Given the description of an element on the screen output the (x, y) to click on. 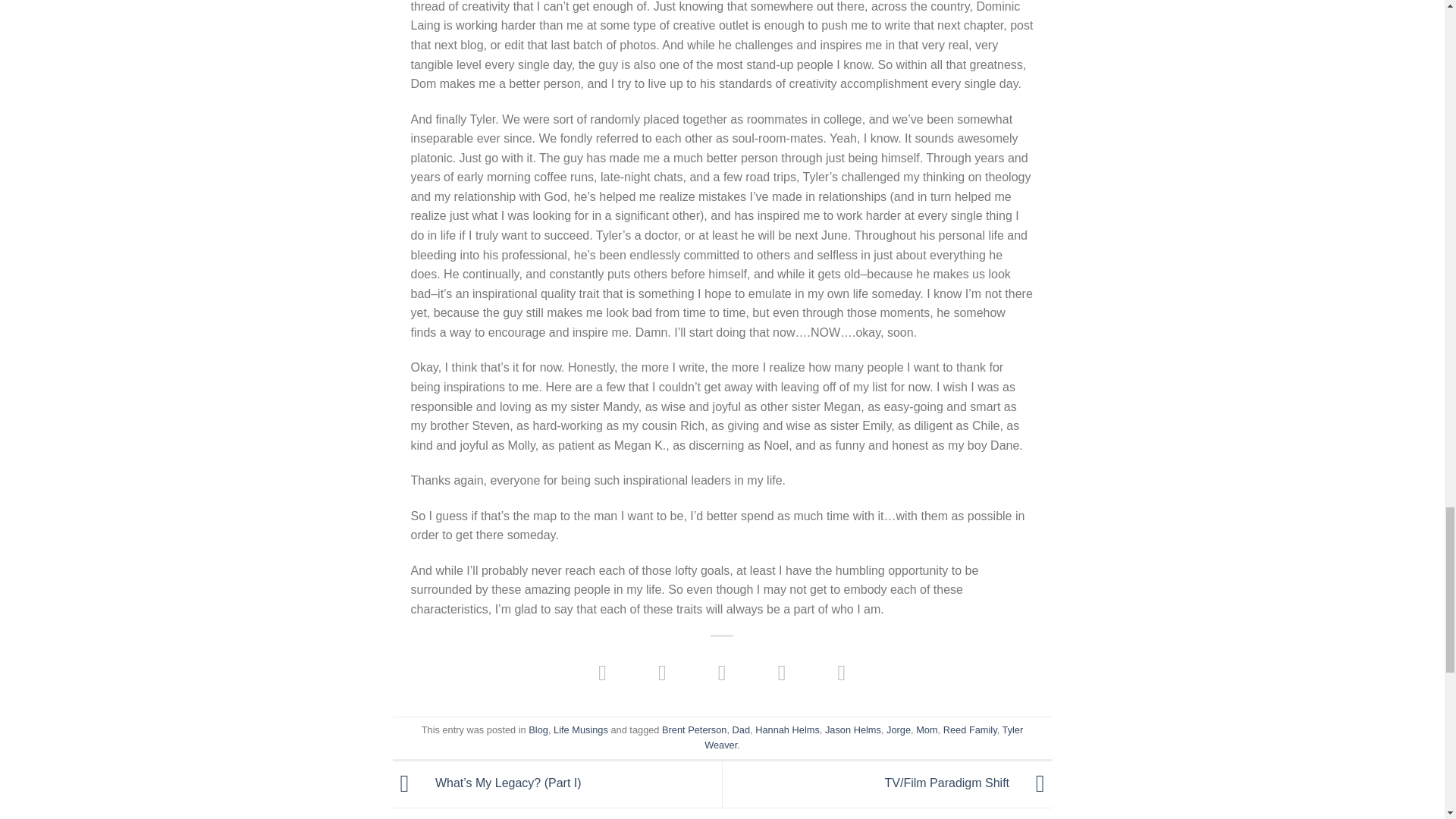
Jorge (898, 729)
Hannah Helms (787, 729)
Dad (740, 729)
Brent Peterson (694, 729)
Mom (926, 729)
Blog (538, 729)
Reed Family (970, 729)
Tyler Weaver (863, 737)
Jason Helms (852, 729)
Life Musings (580, 729)
